Given the description of an element on the screen output the (x, y) to click on. 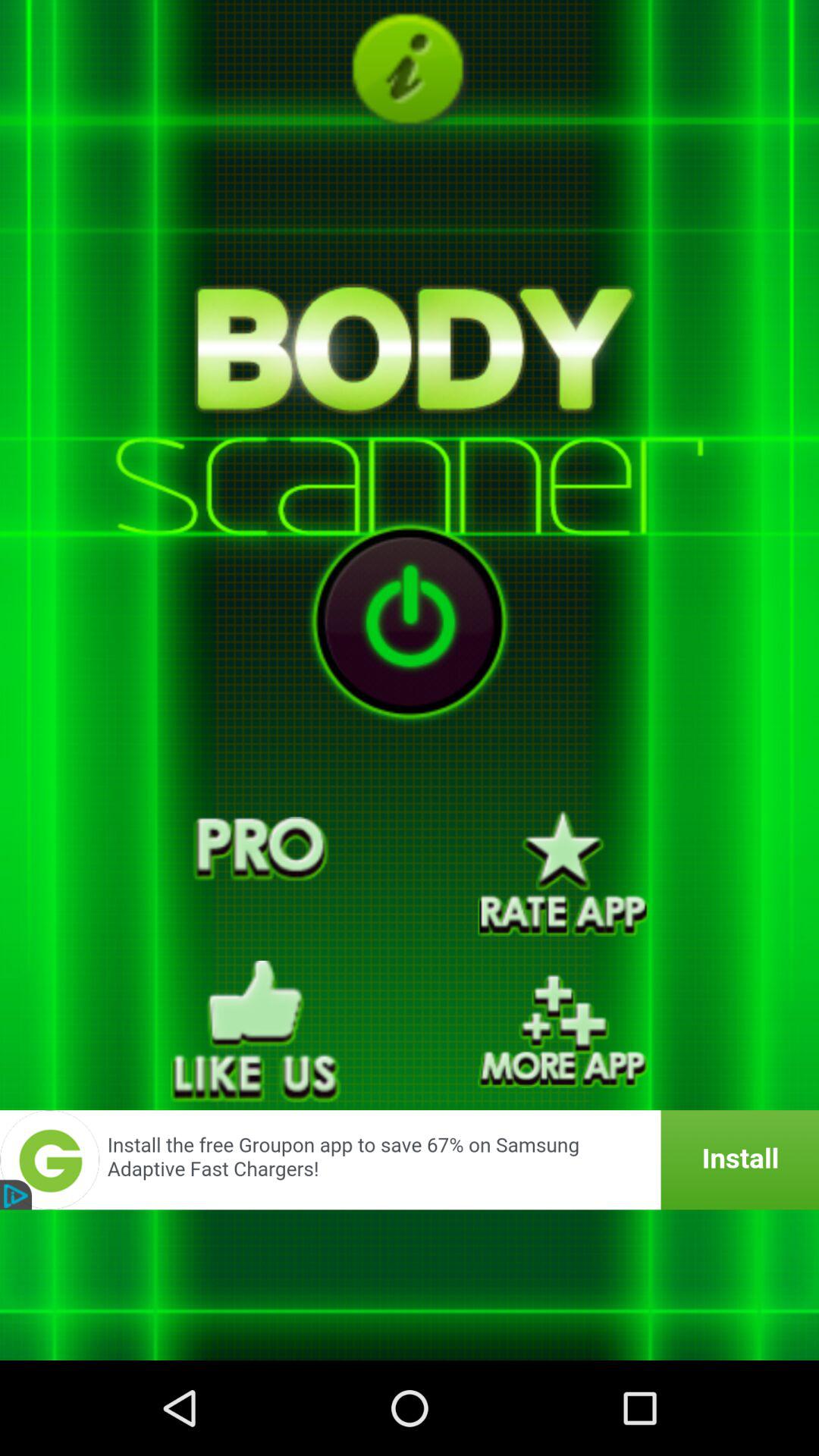
like us (255, 1031)
